Given the description of an element on the screen output the (x, y) to click on. 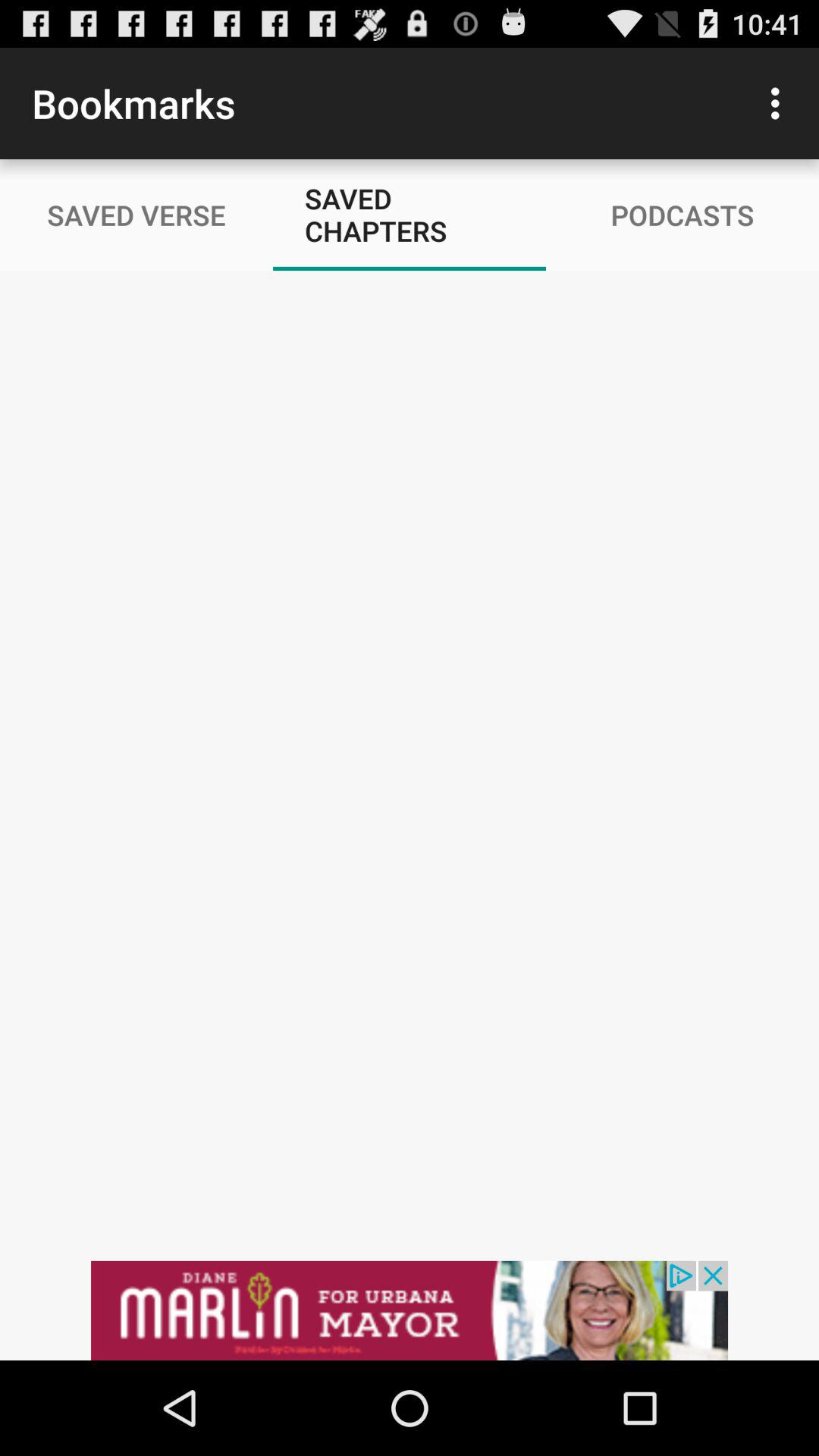
go to adverstment option (409, 1310)
